Given the description of an element on the screen output the (x, y) to click on. 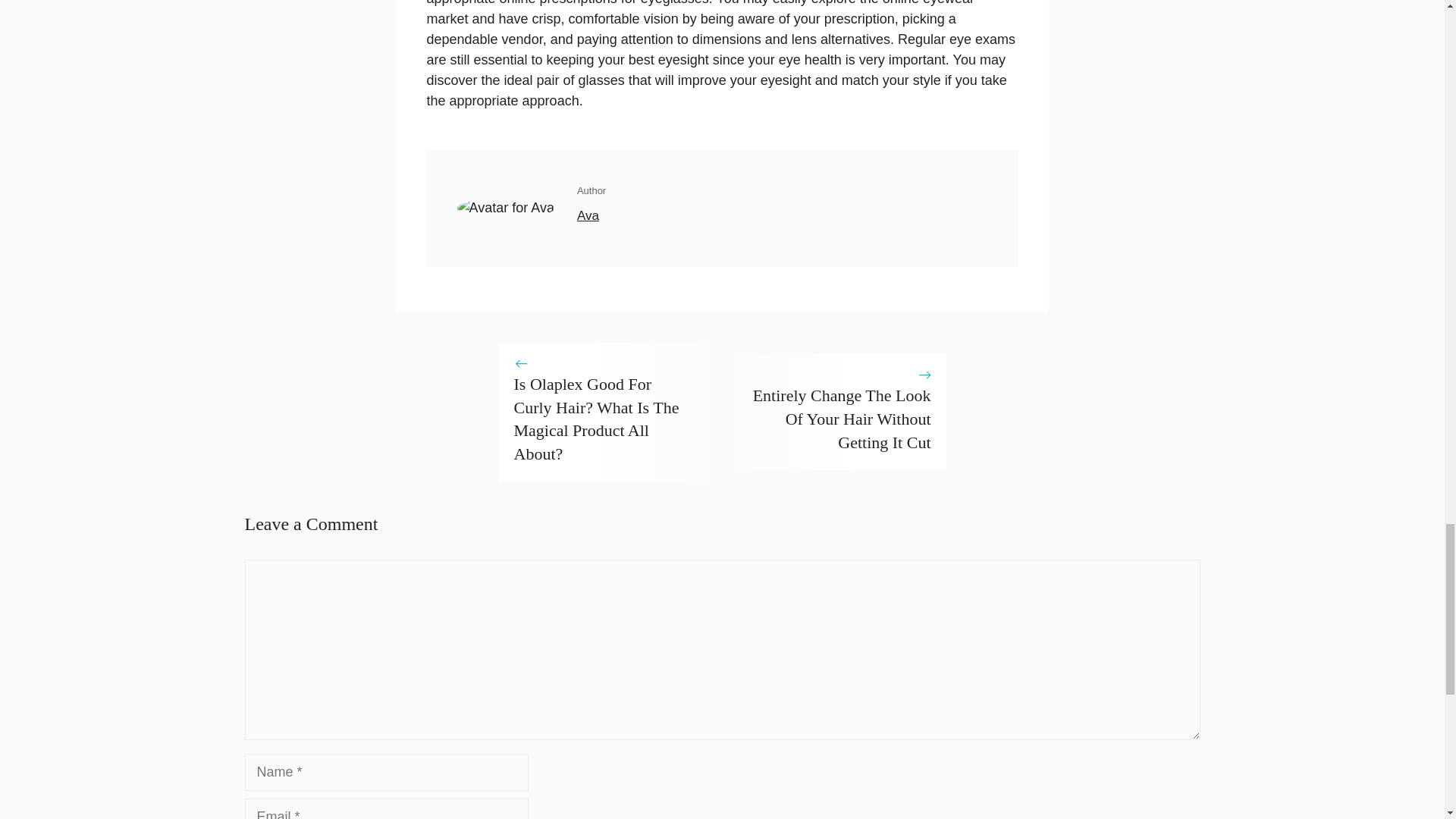
Ava (587, 215)
Entirely Change The Look Of Your Hair Without Getting It Cut (841, 418)
